Given the description of an element on the screen output the (x, y) to click on. 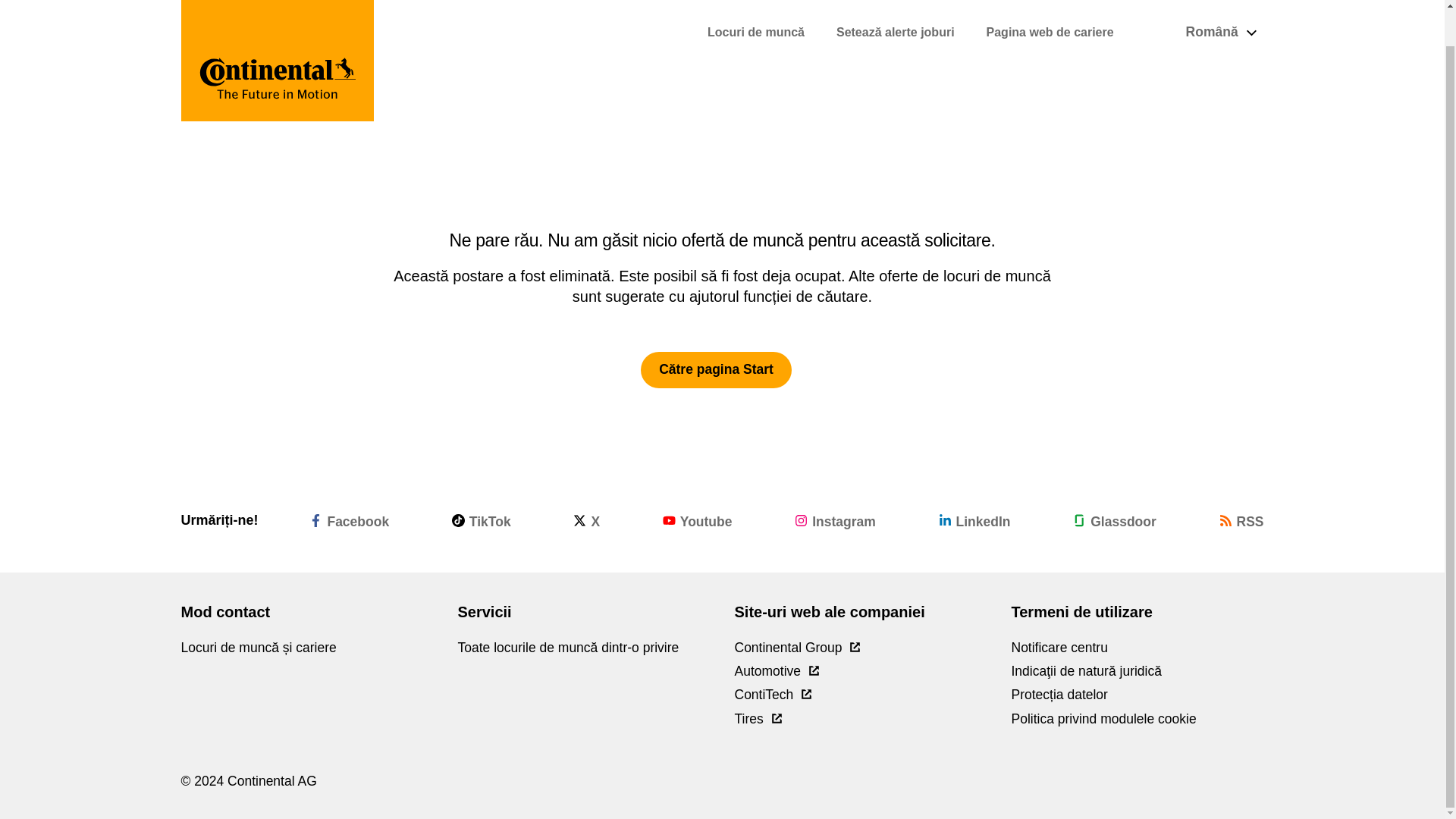
LinkedIn (974, 520)
TikTok (481, 520)
Glassdoor (1114, 520)
Pagina web de cariere (1049, 2)
Facebook (348, 520)
Instagram (835, 520)
Facebook (348, 520)
Pagina web de cariere (1049, 2)
X (586, 520)
RSS (1241, 520)
Continental AG (277, 42)
TikTok (481, 520)
Youtube (697, 520)
